Given the description of an element on the screen output the (x, y) to click on. 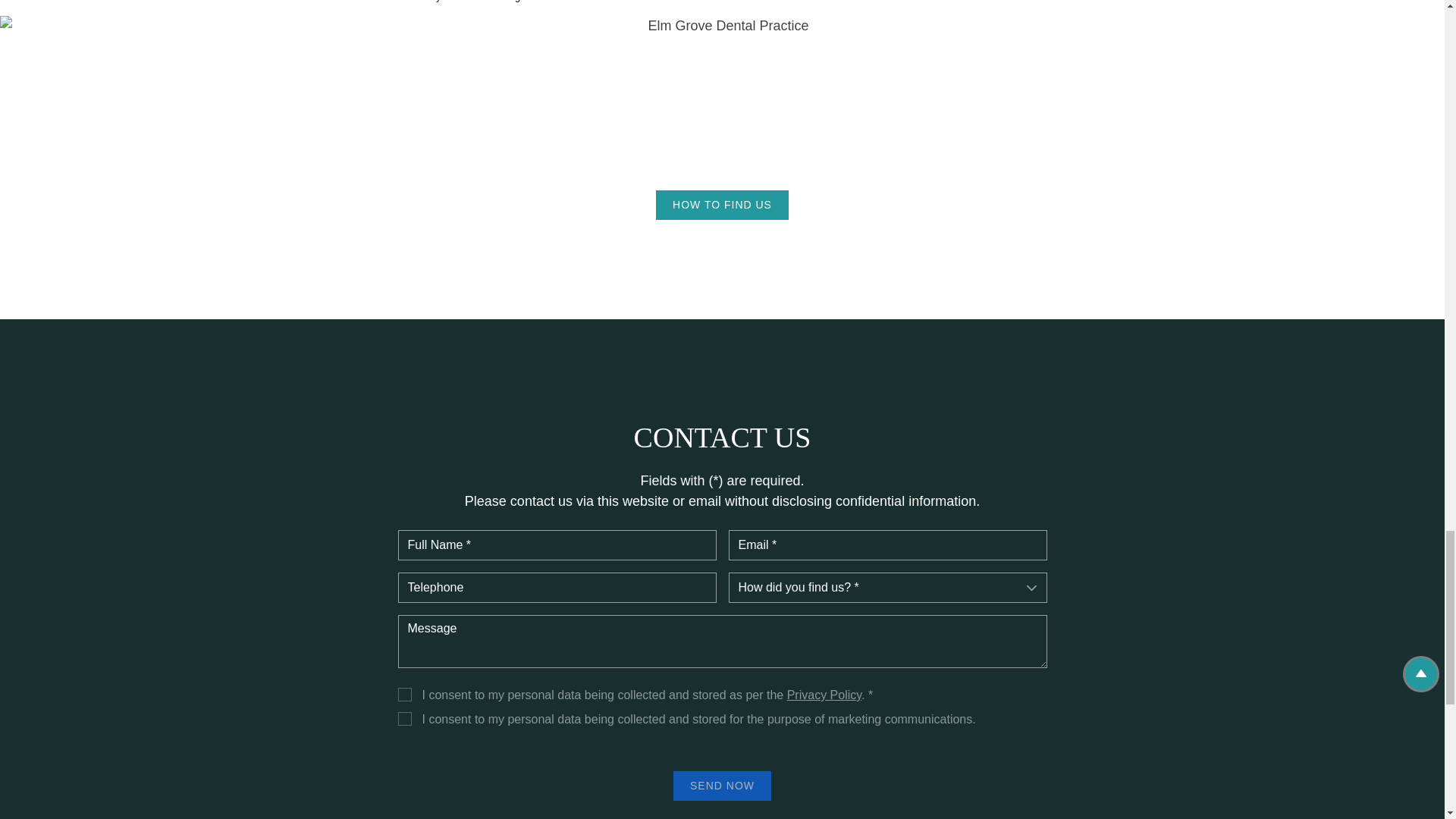
Yes (403, 694)
Privacy Policy (824, 694)
Telephone (556, 587)
Treatments (306, 1)
Send Now (721, 785)
HOW TO FIND US (722, 205)
Cosmetic Dentistry (399, 1)
Send Now (721, 785)
Yes (403, 718)
White Fillings (496, 1)
